Given the description of an element on the screen output the (x, y) to click on. 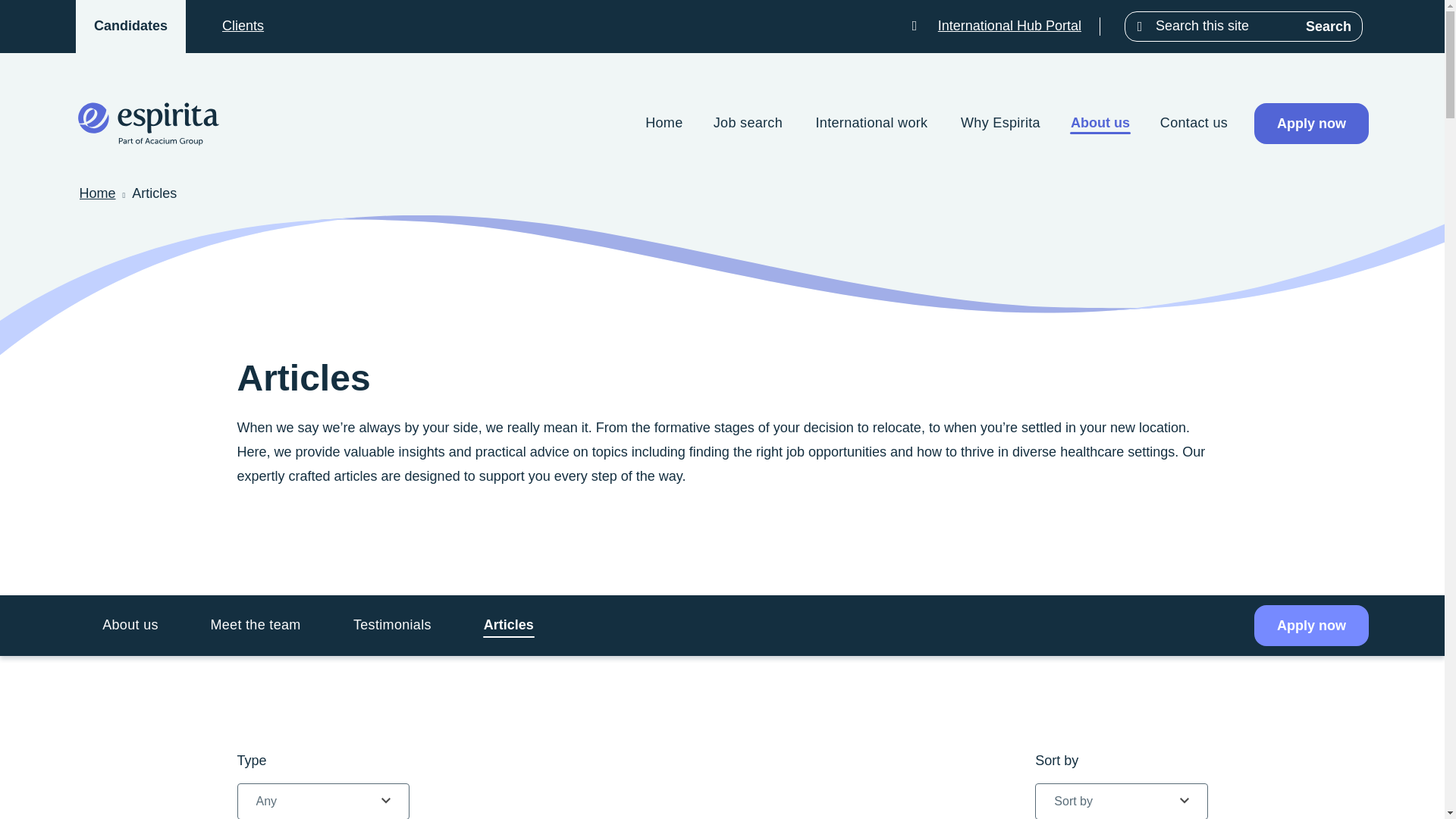
Articles (508, 625)
Espirita (148, 123)
Why Espirita (1000, 123)
Submit (1383, 256)
Apply now (1310, 123)
Home (96, 193)
Clients (242, 26)
Apply now (1310, 625)
Apply now (1310, 123)
Candidates (130, 26)
